Given the description of an element on the screen output the (x, y) to click on. 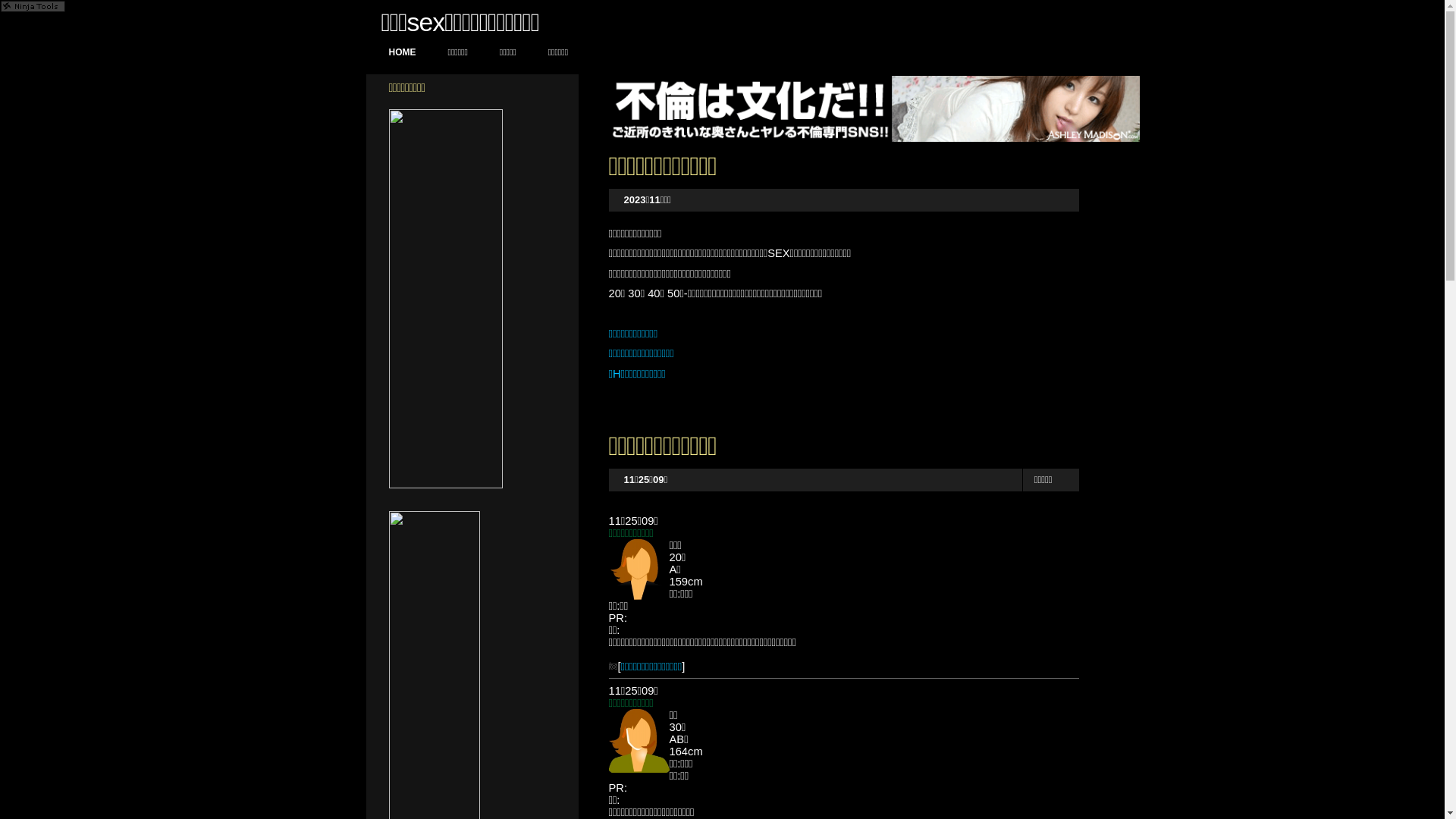
HOME Element type: text (401, 52)
